Given the description of an element on the screen output the (x, y) to click on. 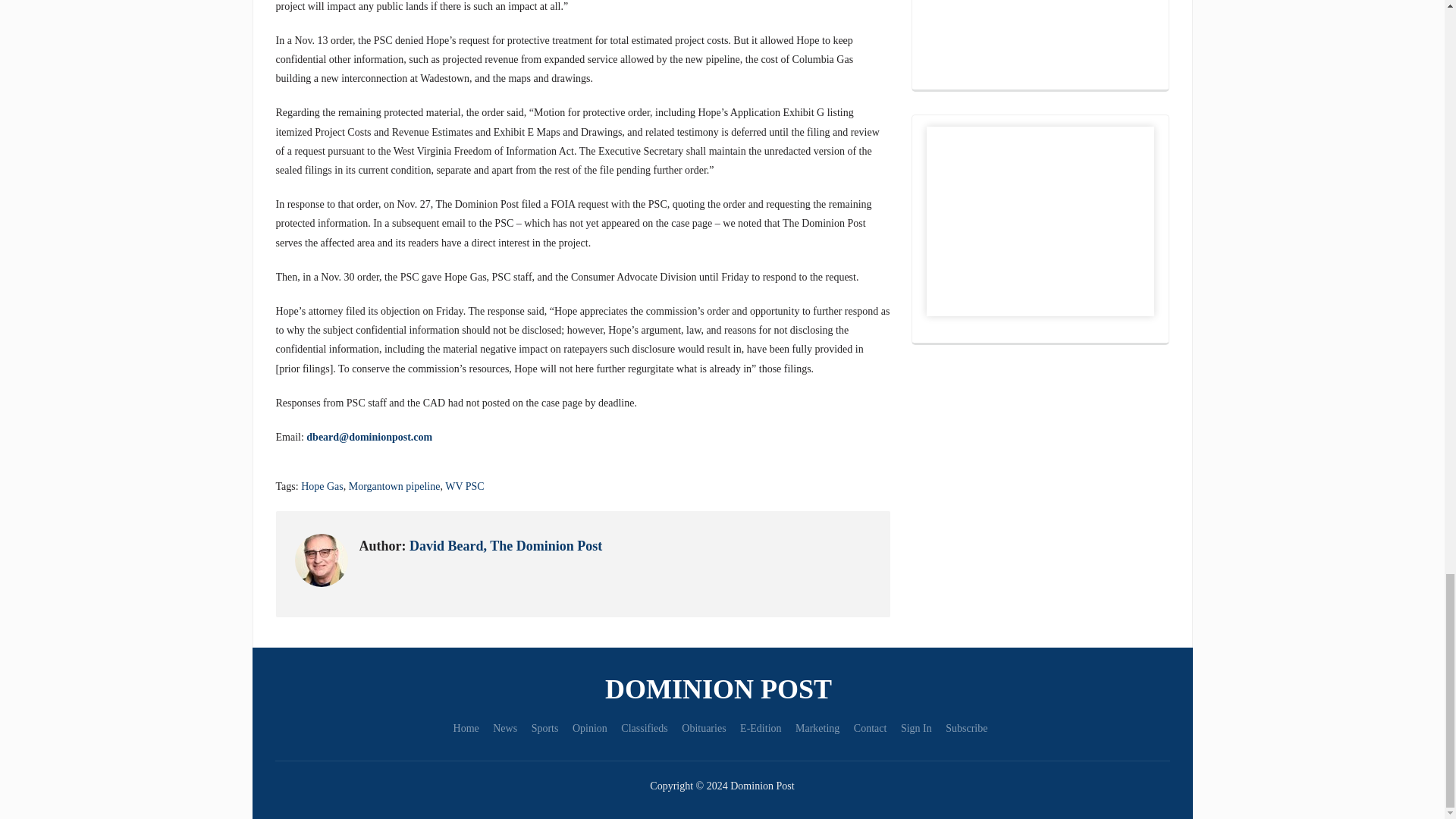
Morgantown Area News (722, 688)
3rd party ad content (1040, 38)
